Given the description of an element on the screen output the (x, y) to click on. 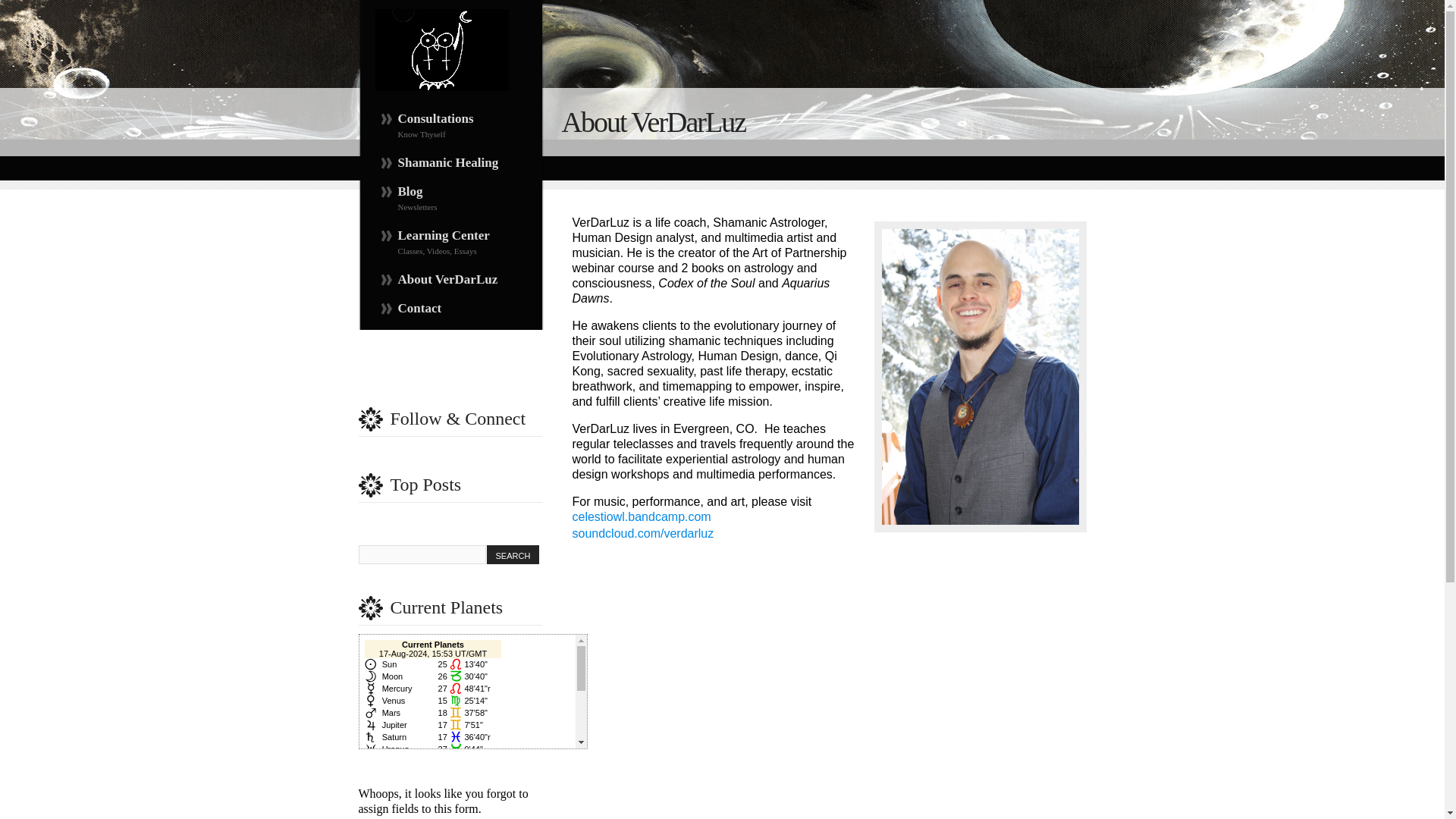
Search (449, 199)
celestiowl.bandcamp.com (513, 554)
Shamanic Healing (449, 126)
Search (449, 242)
Contact (641, 516)
About VerDarLuz (449, 162)
